Given the description of an element on the screen output the (x, y) to click on. 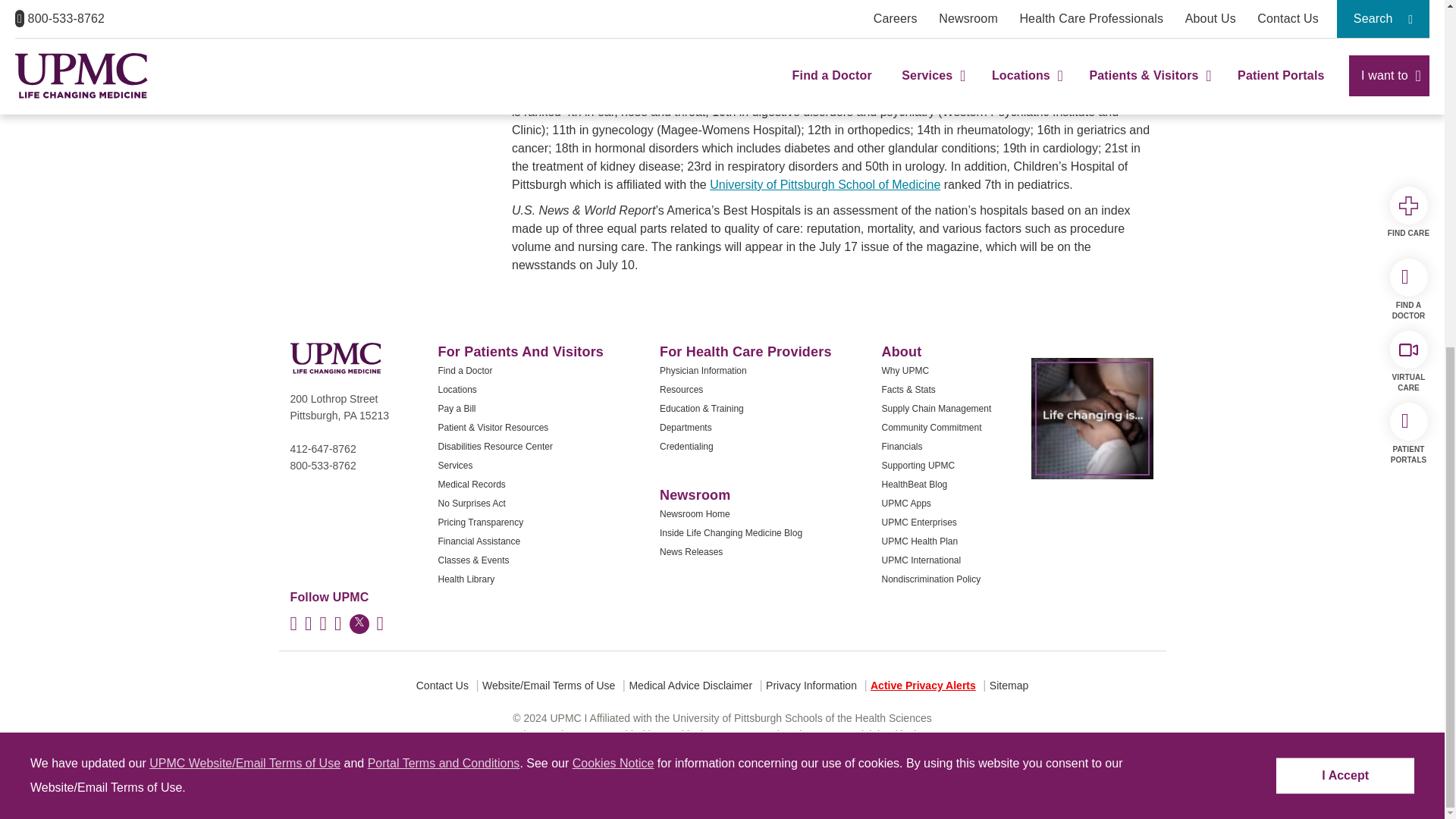
I Accept (1344, 177)
Portal Terms and Conditions (443, 164)
Cookies Notice (612, 164)
